Given the description of an element on the screen output the (x, y) to click on. 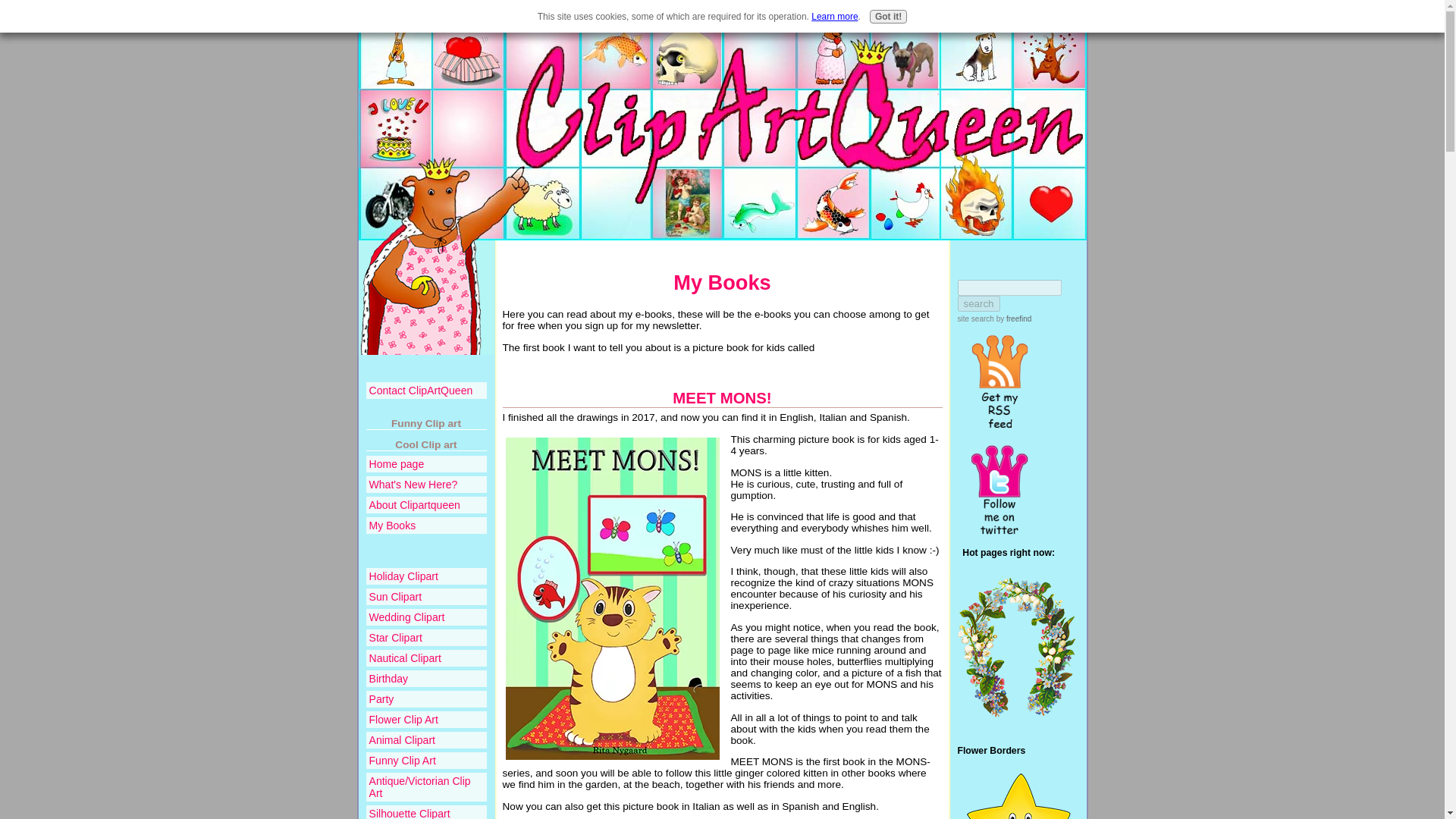
Wedding Clipart (425, 617)
Nautical Clipart (425, 658)
My Books (721, 282)
Flower Clip Art (425, 719)
Holiday Clipart (425, 576)
What's New Here? (425, 484)
Funny Clip Art (425, 760)
search (977, 303)
Silhouette Clipart (425, 812)
My Books (425, 524)
Birthday (425, 678)
Home page (425, 463)
Contact ClipArtQueen (425, 390)
Animal Clipart (425, 740)
Sun Clipart (425, 596)
